Given the description of an element on the screen output the (x, y) to click on. 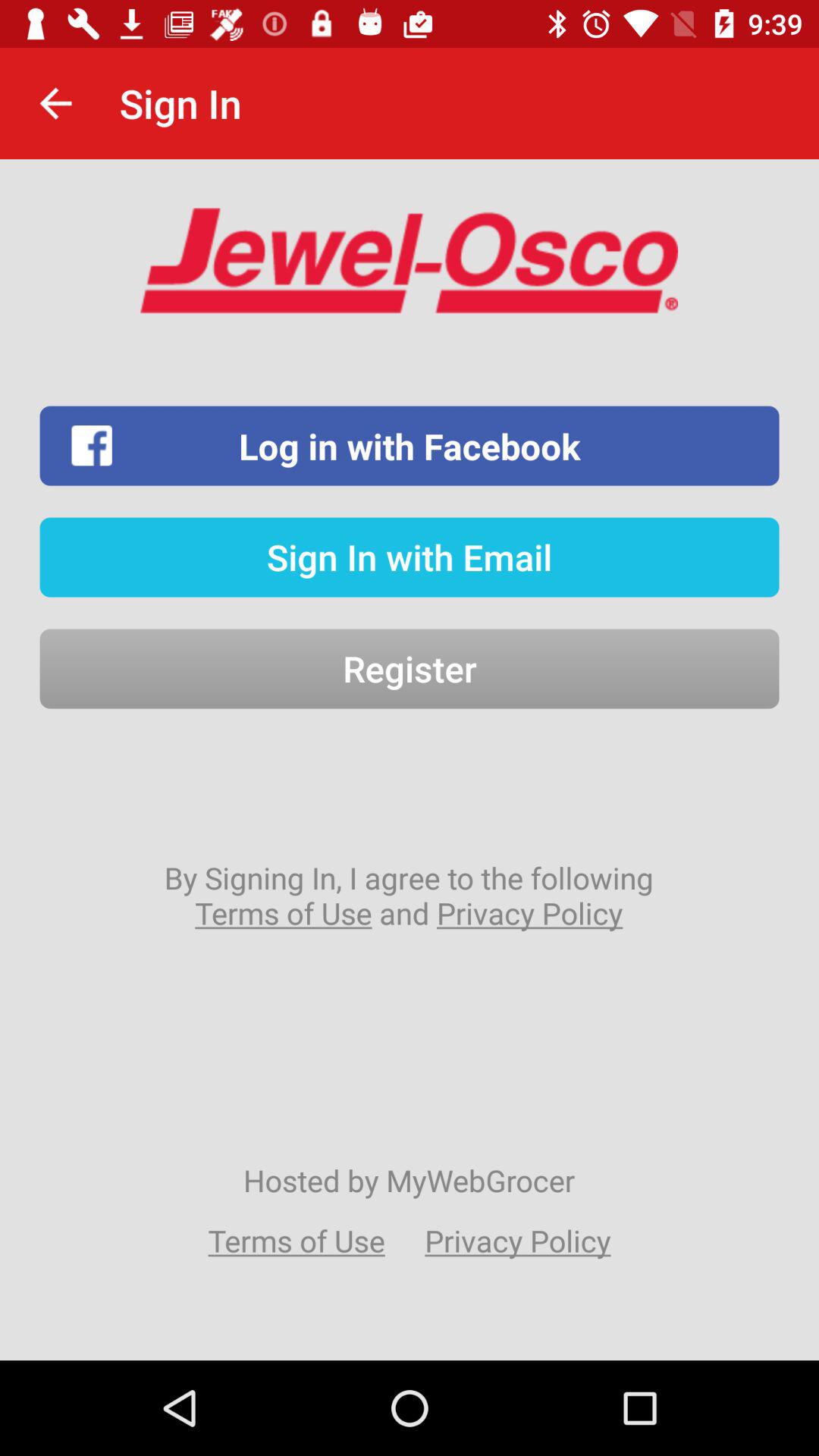
jump until the by signing in (408, 895)
